Given the description of an element on the screen output the (x, y) to click on. 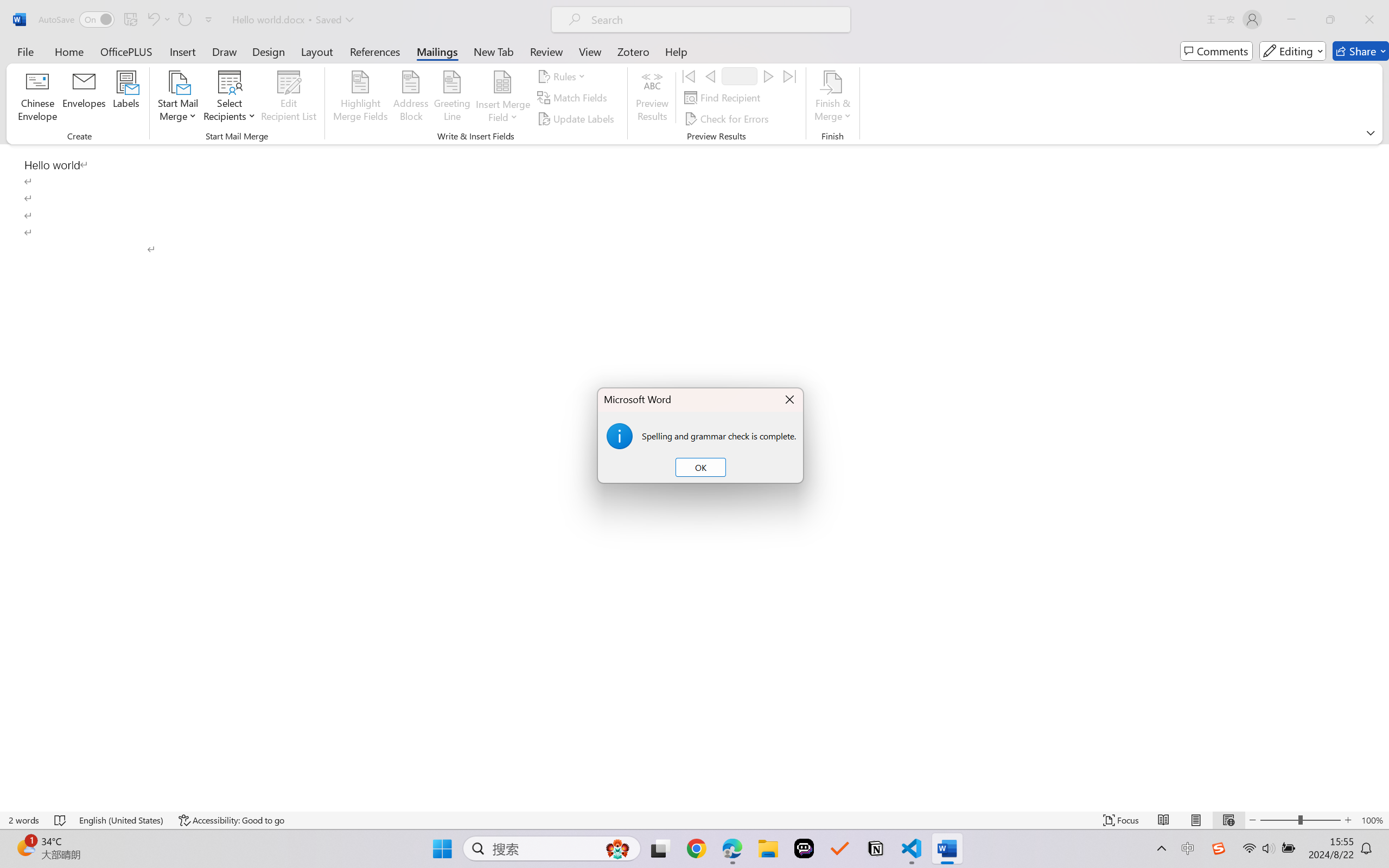
Undo Click and Type Formatting (158, 19)
Zoom In (1348, 819)
Start Mail Merge (177, 97)
Spelling and Grammar Check No Errors (60, 819)
Read Mode (1163, 819)
Class: NetUIScrollBar (1382, 477)
Print Layout (1196, 819)
Rules (563, 75)
Edit Recipient List... (288, 97)
Close (1369, 19)
OK (700, 467)
Save (130, 19)
Find Recipient... (723, 97)
